Given the description of an element on the screen output the (x, y) to click on. 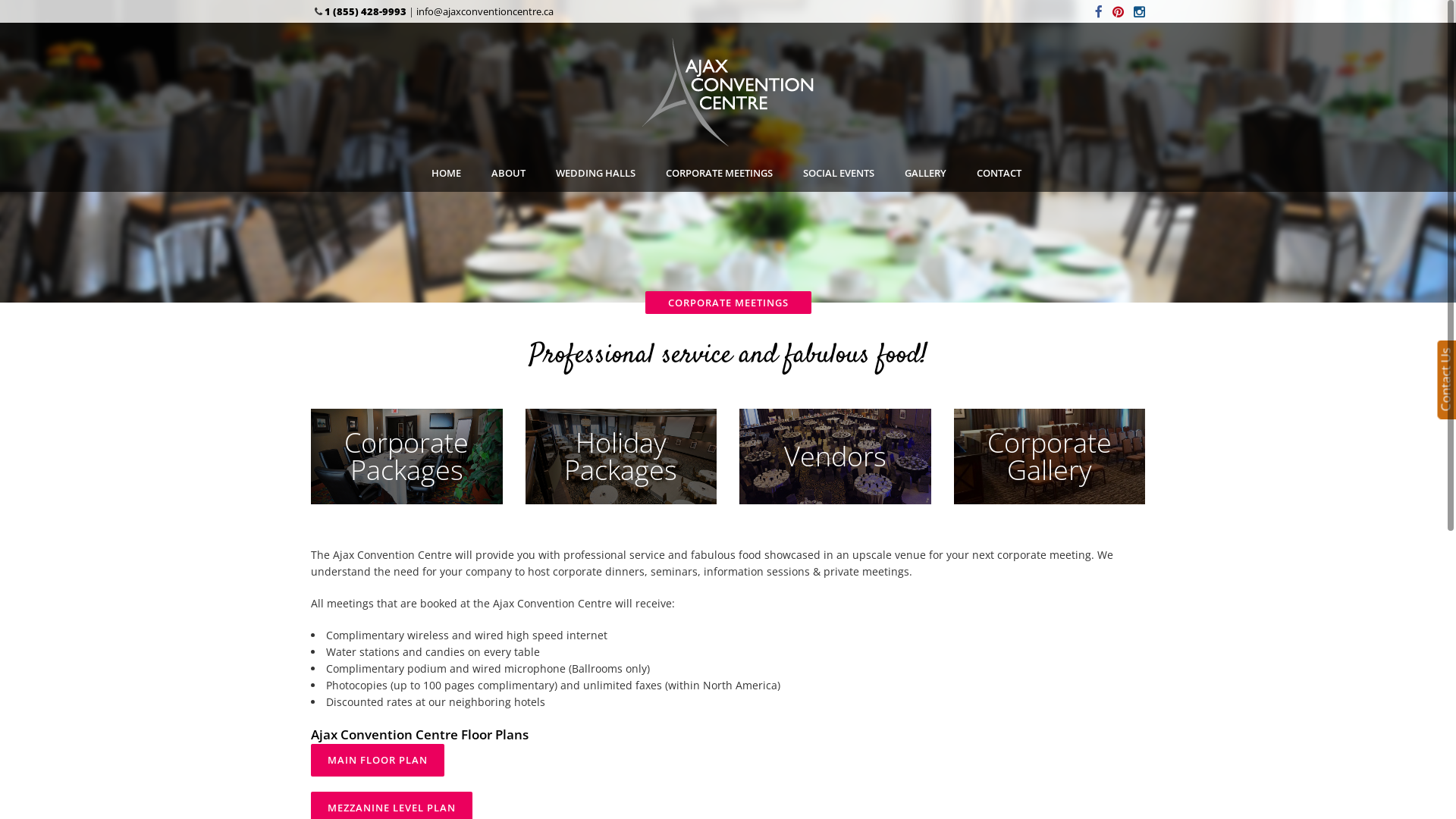
GALLERY Element type: text (925, 172)
HOME Element type: text (446, 172)
CORPORATE MEETINGS Element type: text (718, 172)
info@ajaxconventioncentre.ca Element type: text (484, 11)
SOCIAL EVENTS Element type: text (838, 172)
ABOUT Element type: text (508, 172)
MAIN FLOOR PLAN Element type: text (377, 759)
CONTACT Element type: text (998, 172)
WEDDING HALLS Element type: text (595, 172)
1 (855) 428-9993 Element type: text (365, 11)
